Given the description of an element on the screen output the (x, y) to click on. 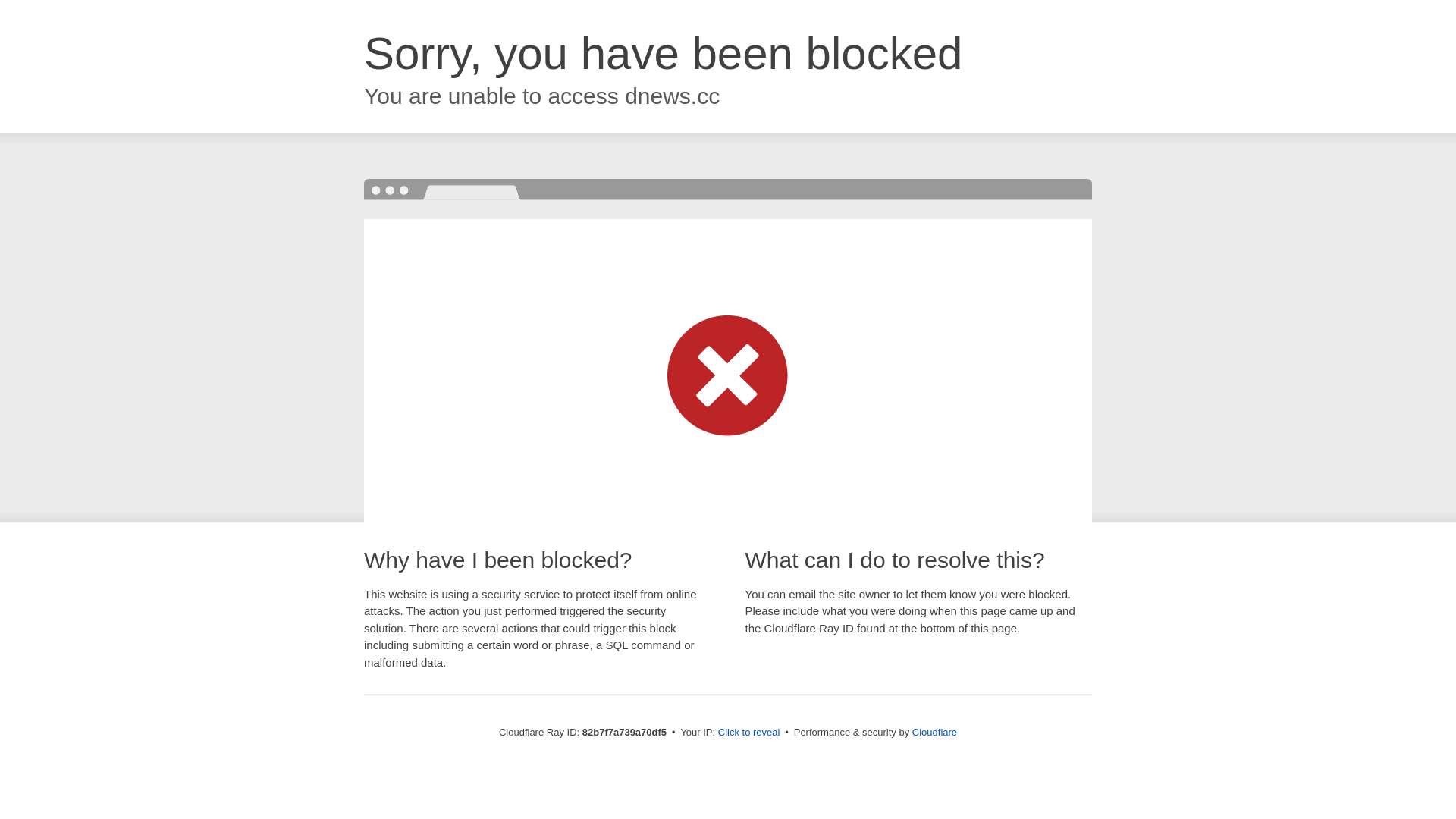
Cloudflare Element type: text (934, 731)
Click to reveal Element type: text (749, 732)
